Given the description of an element on the screen output the (x, y) to click on. 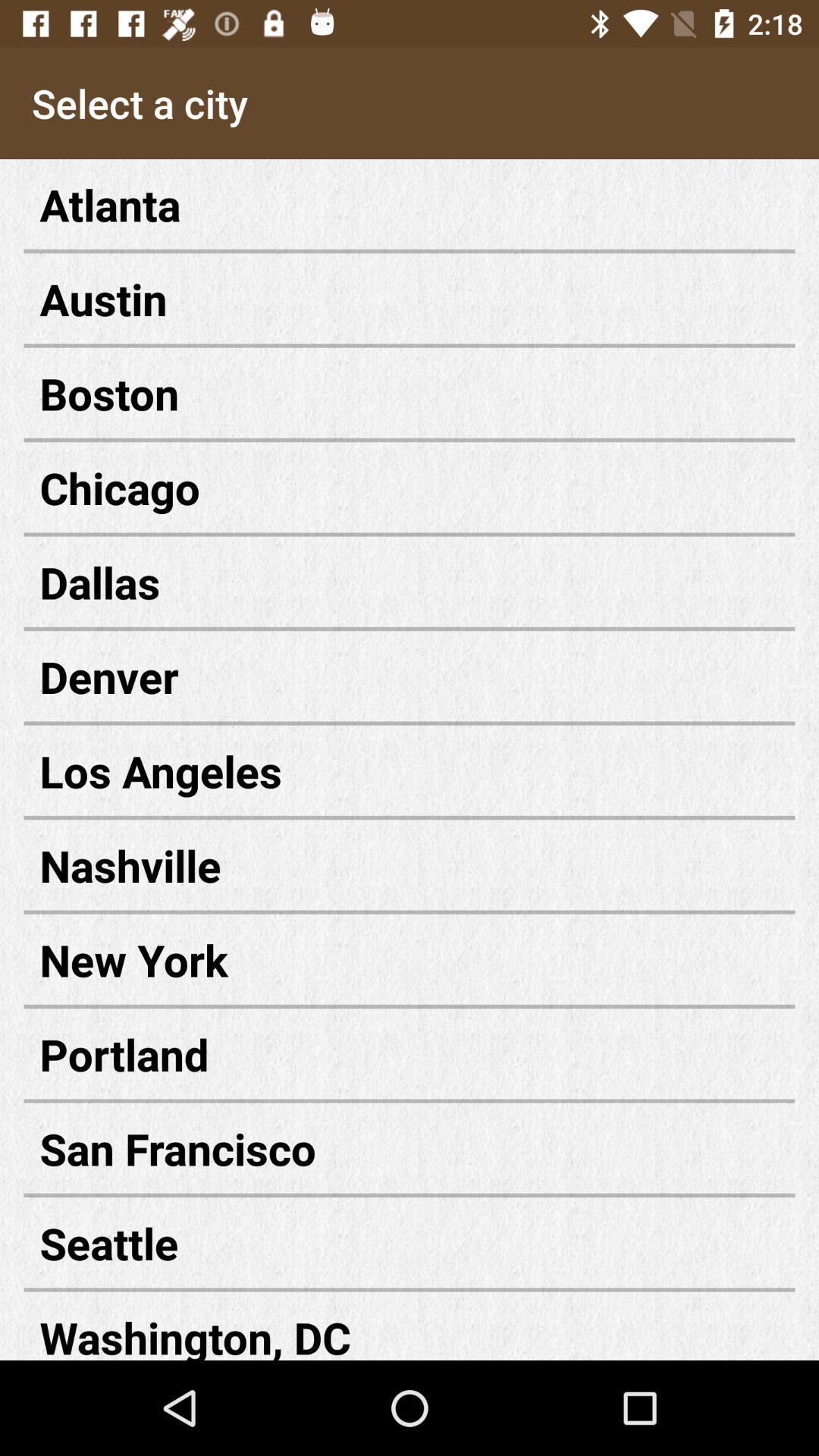
swipe to austin icon (409, 298)
